Given the description of an element on the screen output the (x, y) to click on. 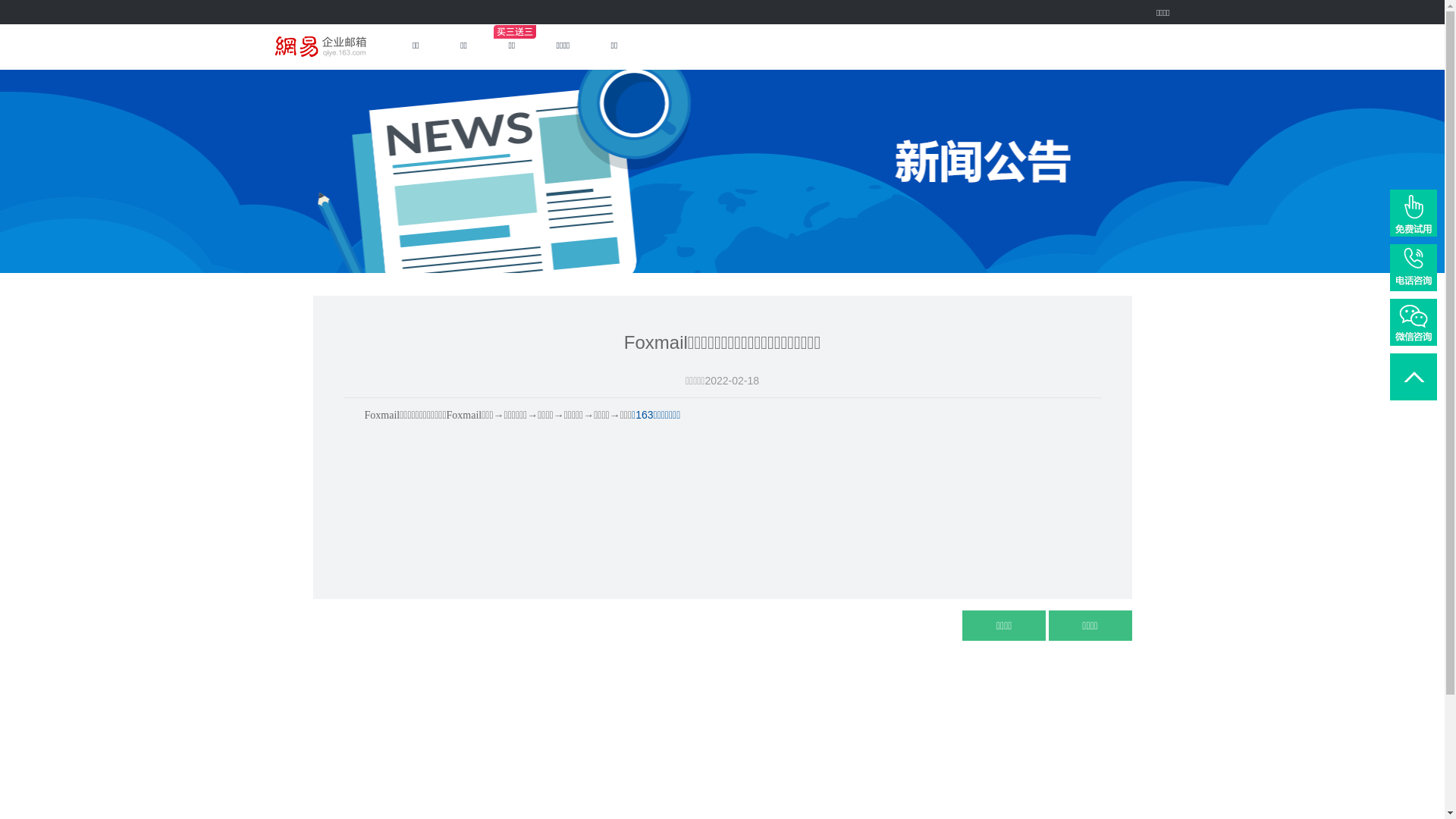
  Element type: text (659, 46)
